Given the description of an element on the screen output the (x, y) to click on. 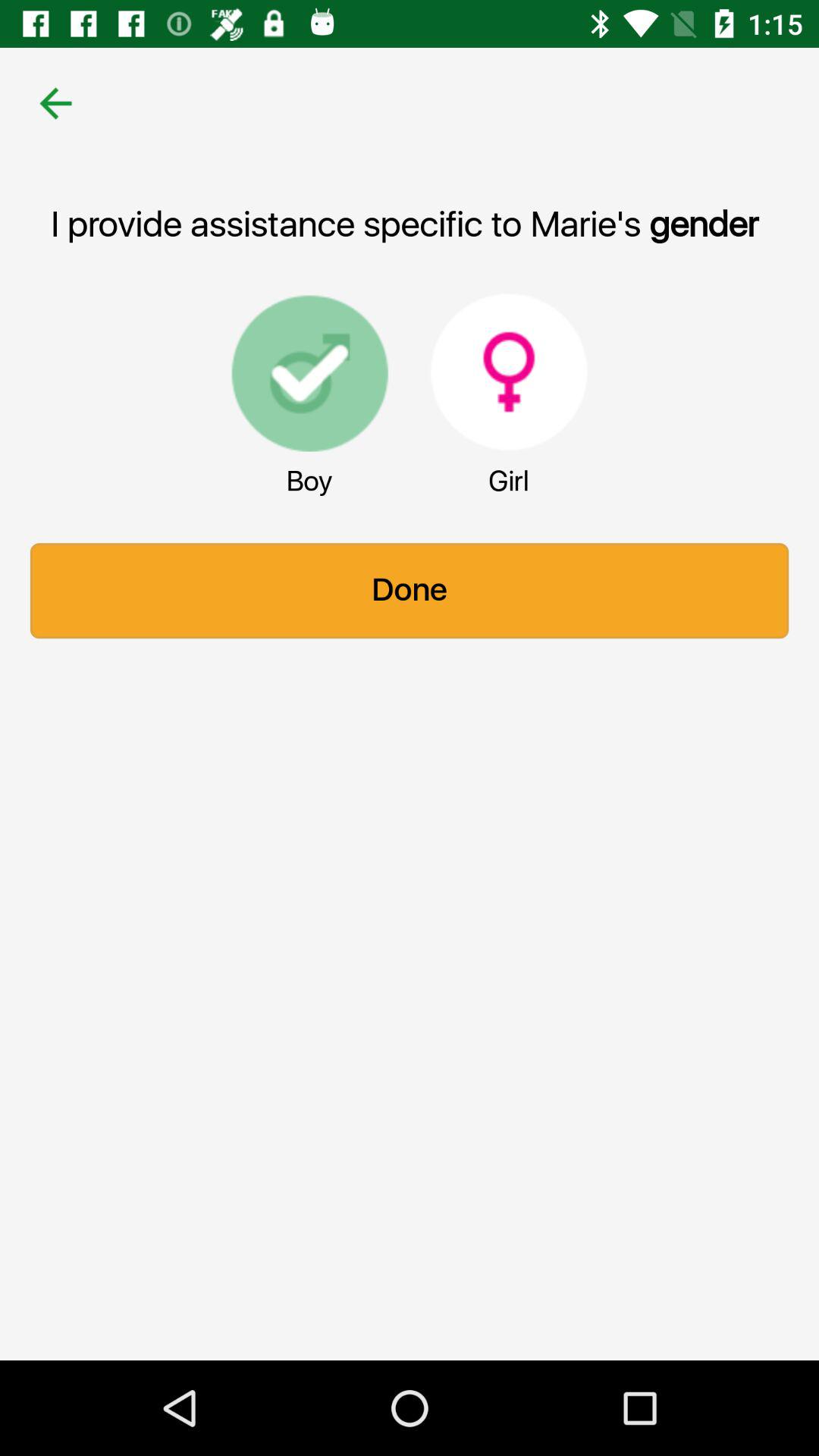
press item below i provide assistance icon (309, 371)
